Given the description of an element on the screen output the (x, y) to click on. 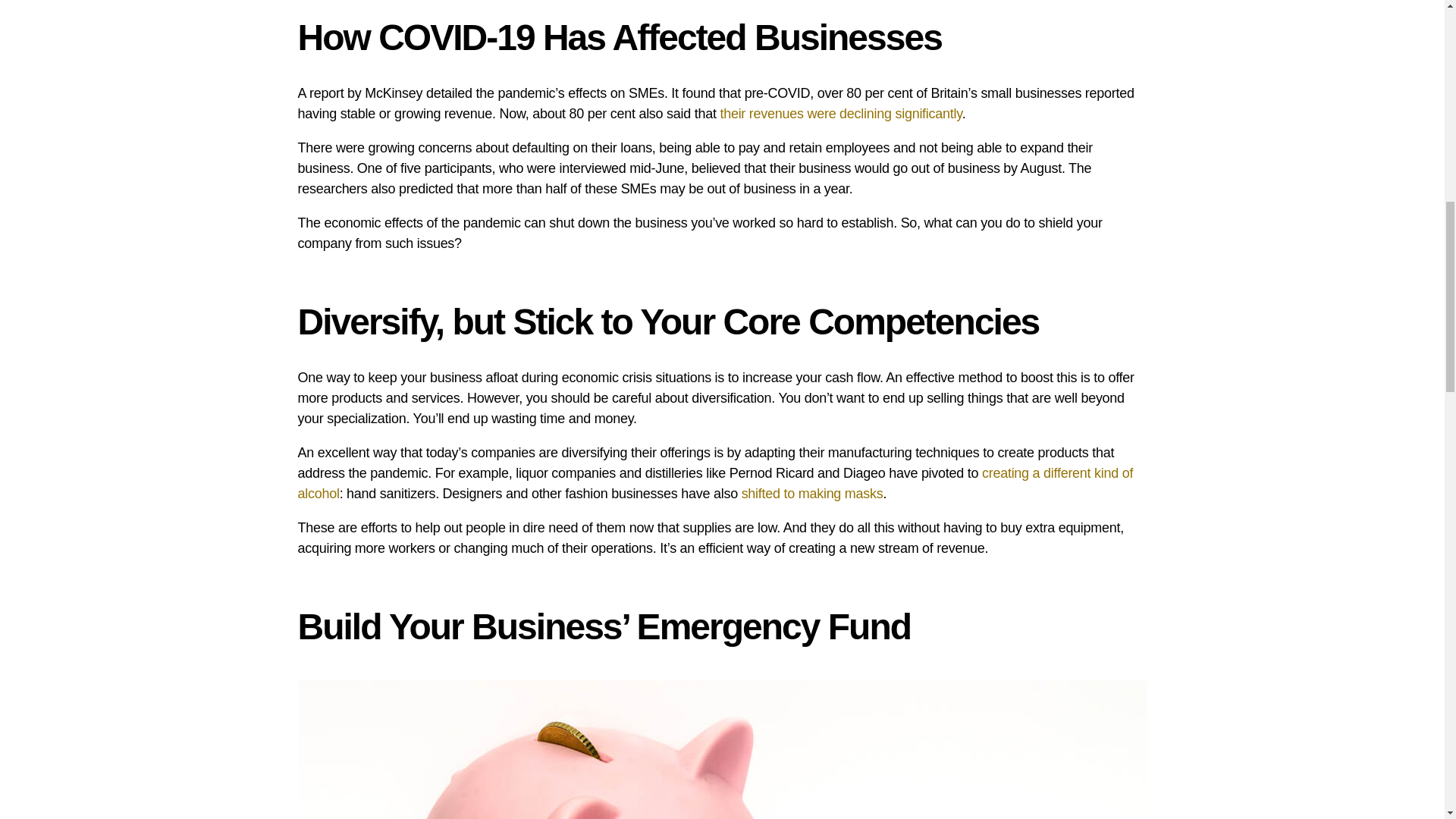
shifted to making masks (812, 493)
creating a different kind of alcohol (714, 483)
their revenues were declining significantly (839, 113)
